Given the description of an element on the screen output the (x, y) to click on. 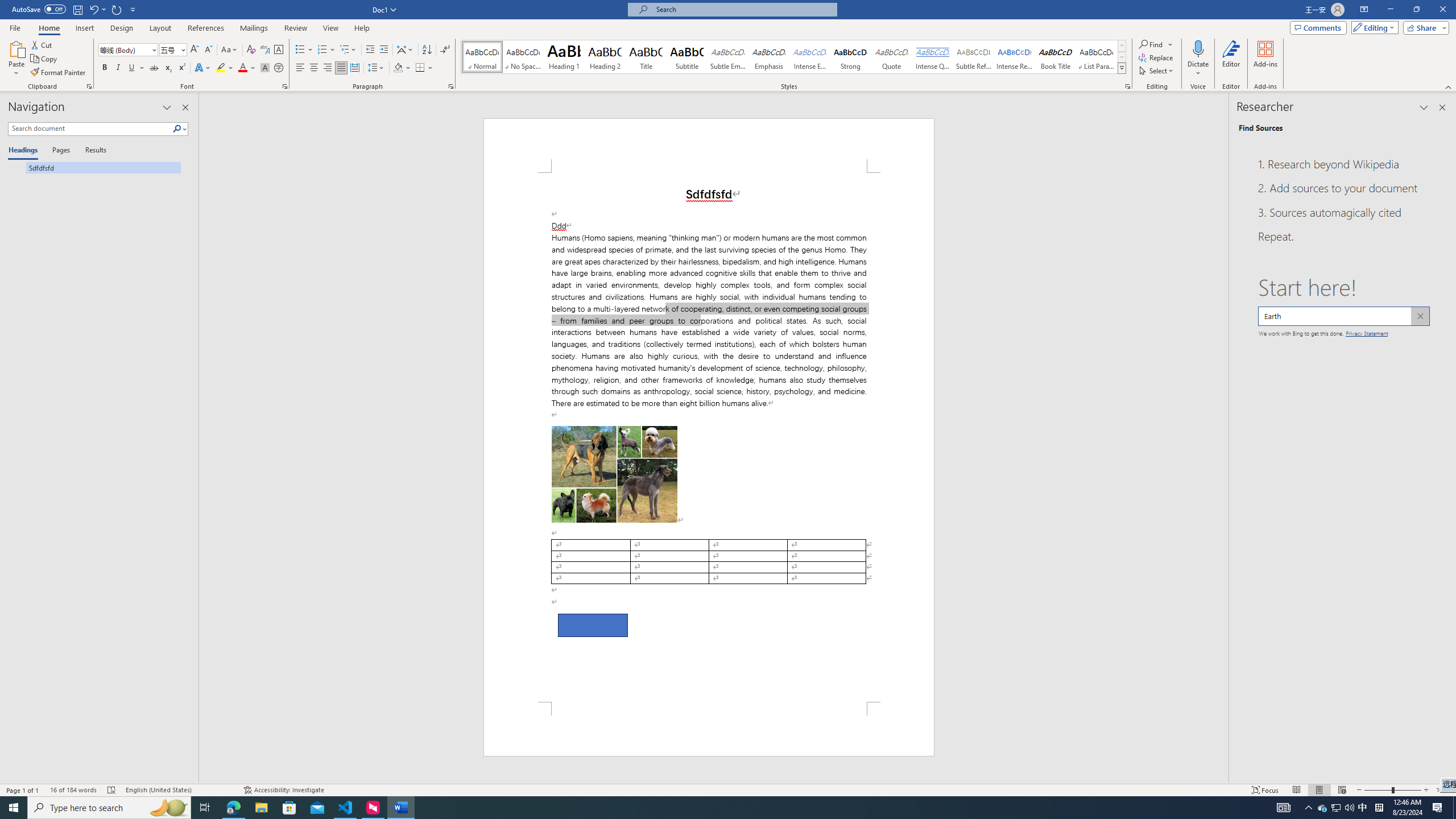
Bullets (304, 49)
Editor (1231, 58)
Multilevel List (347, 49)
Minimize (1390, 9)
Subtle Reference (973, 56)
Clear Formatting (250, 49)
Search document (89, 128)
Font Color Red (241, 67)
Row up (1121, 45)
Footer -Section 1- (708, 728)
Bullets (300, 49)
Font Size (169, 49)
Text Highlight Color (224, 67)
Layout (160, 28)
